Given the description of an element on the screen output the (x, y) to click on. 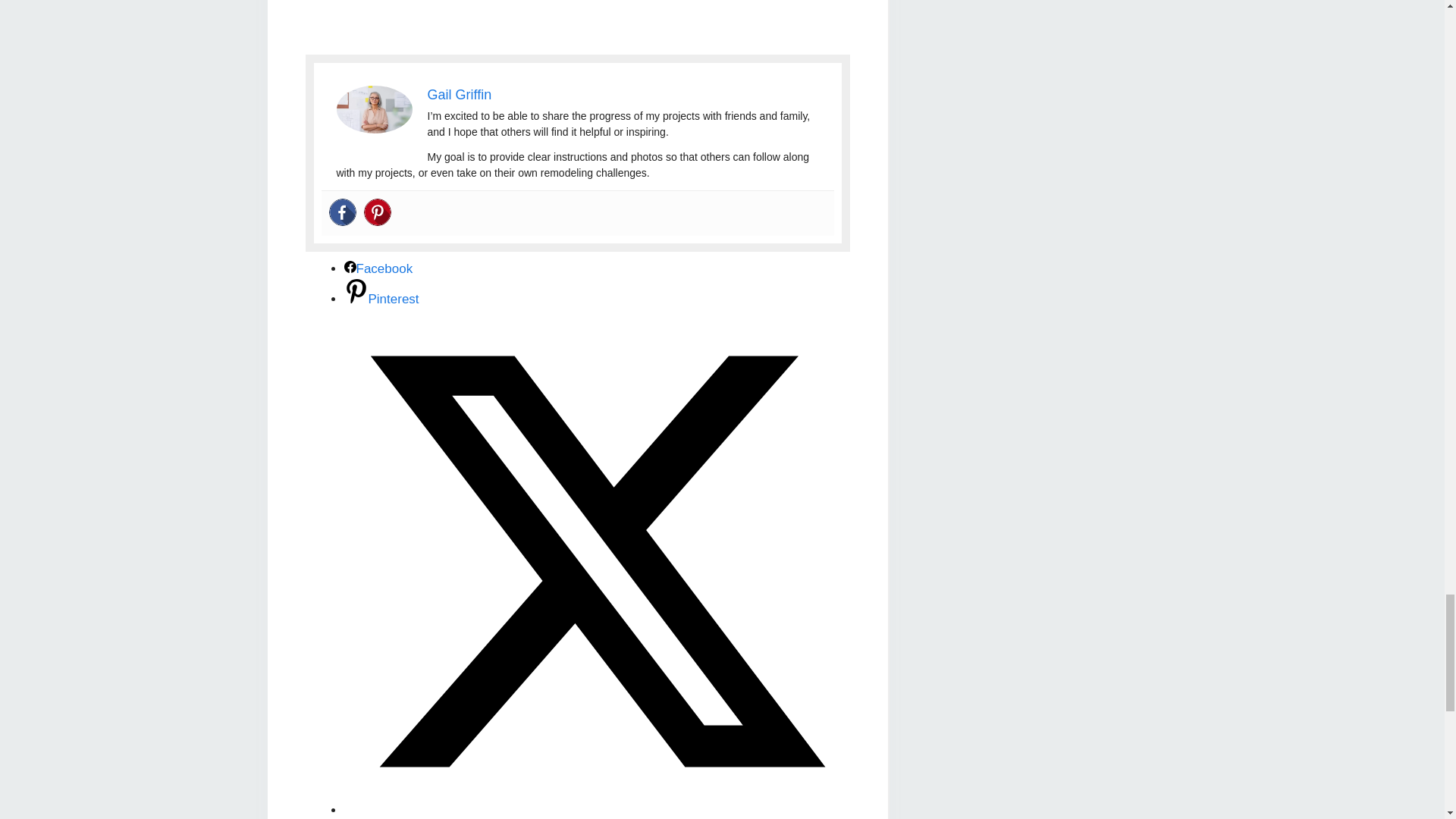
Bathroom Remodel Monmouth County Nj 2 (374, 109)
Facebook (342, 212)
Share on Twitter (596, 811)
Share on Pinterest (381, 298)
Share on Facebook (378, 268)
Pinterest (377, 212)
